Given the description of an element on the screen output the (x, y) to click on. 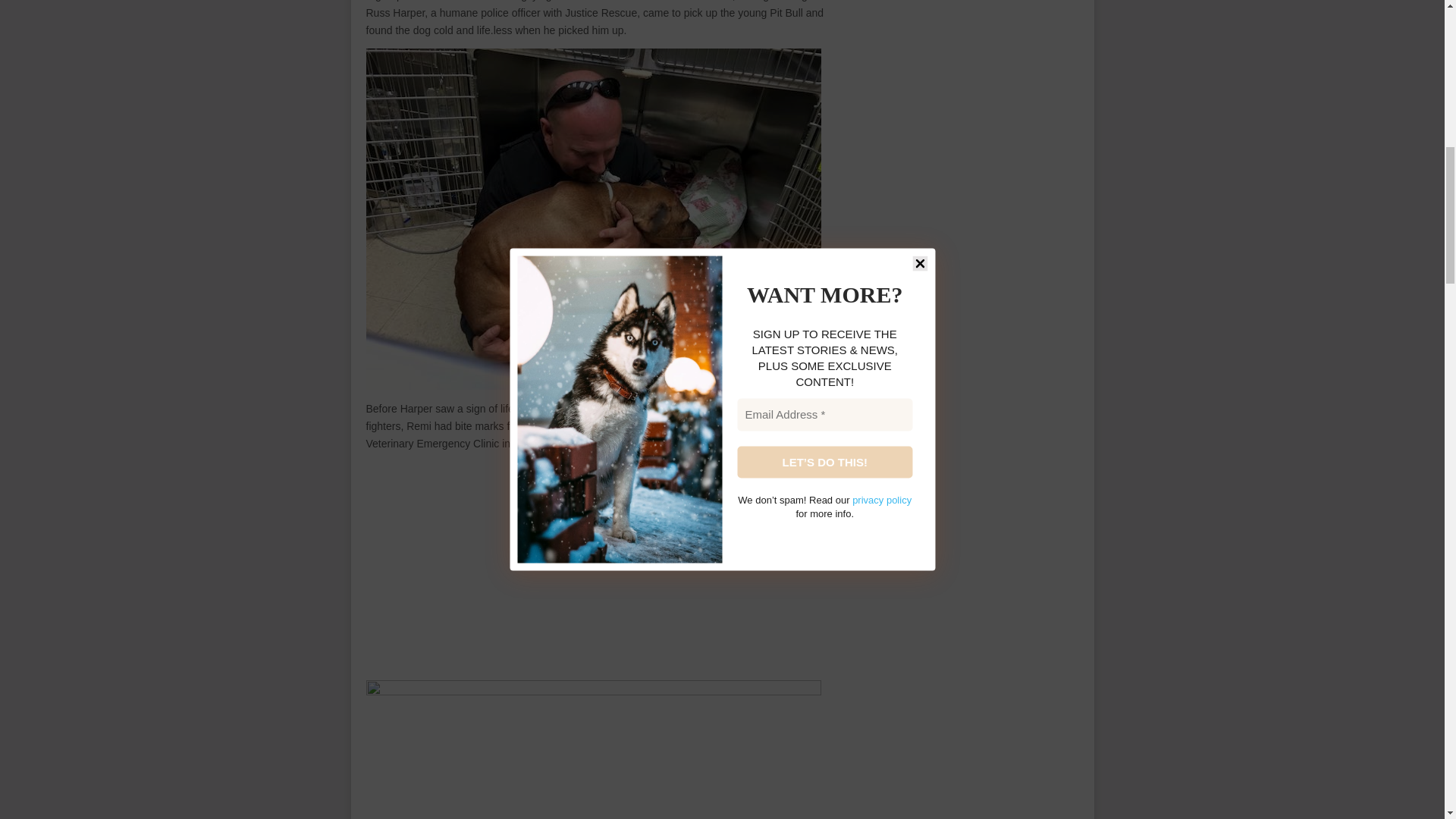
Advertisement (602, 567)
